Given the description of an element on the screen output the (x, y) to click on. 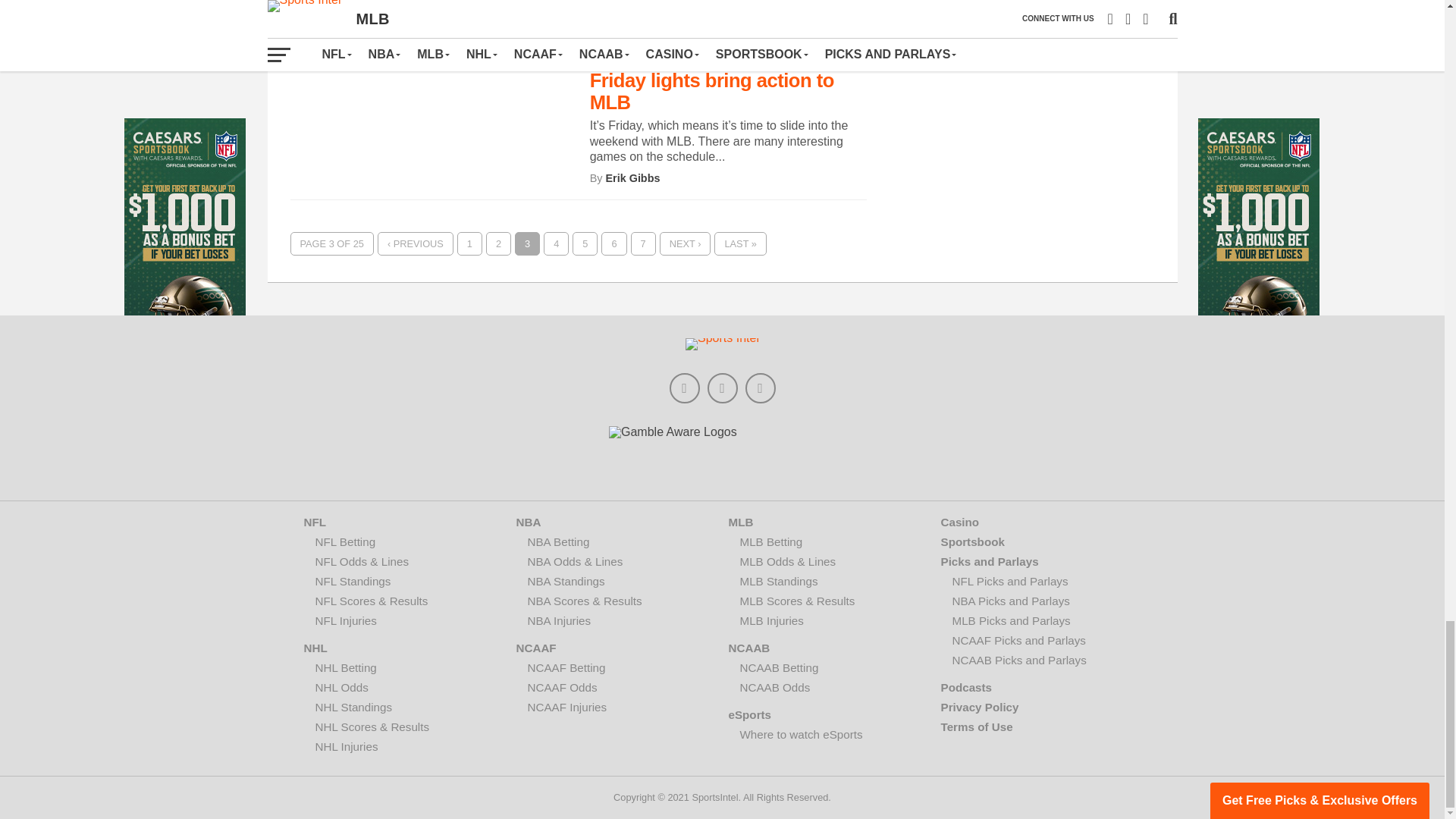
Posts by Erik Gibbs (632, 15)
Posts by Erik Gibbs (632, 177)
